Given the description of an element on the screen output the (x, y) to click on. 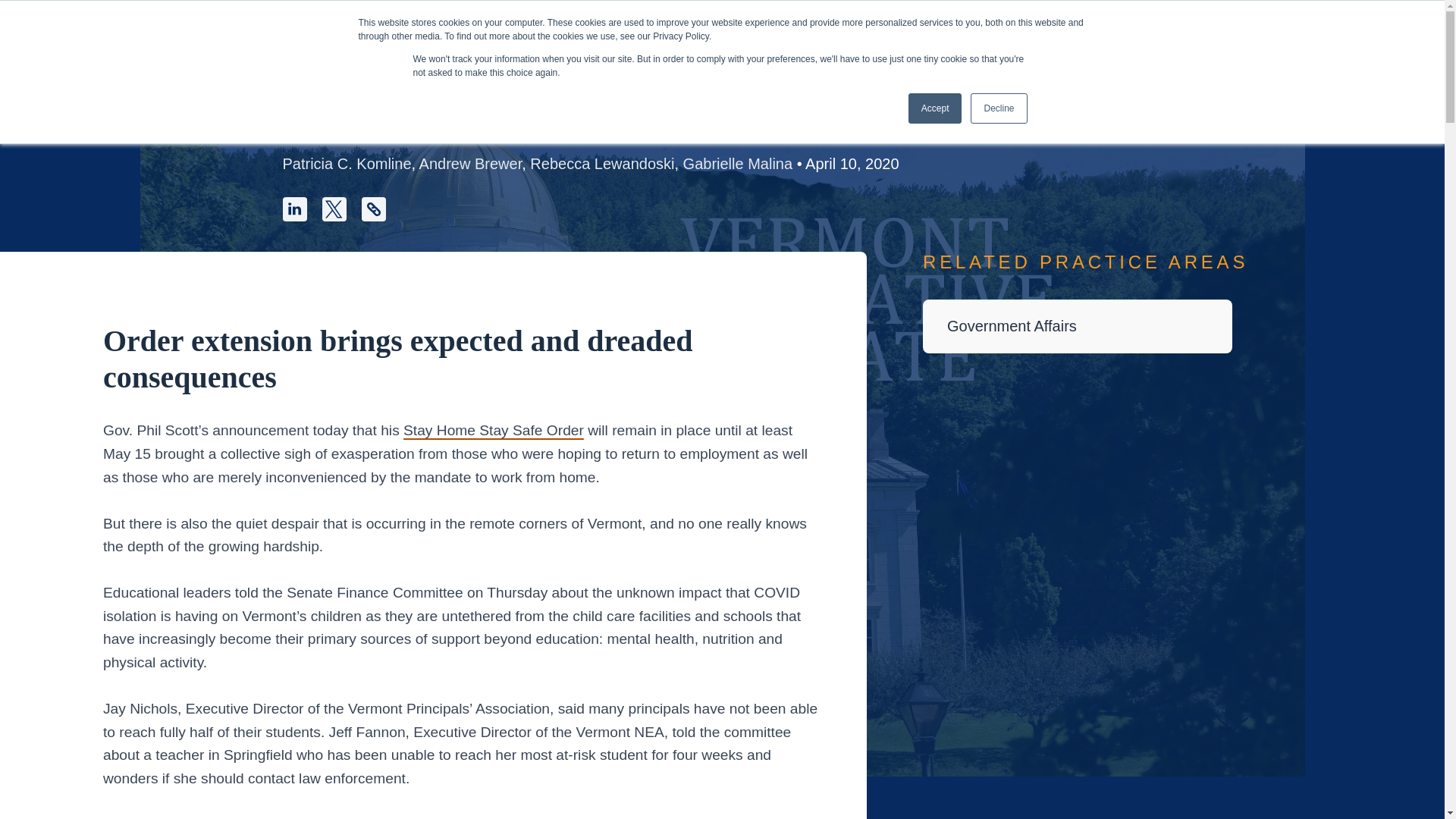
Accept (935, 108)
home (297, 62)
Practices (536, 63)
Resources (941, 63)
Team (745, 63)
Careers (833, 63)
Industries (649, 63)
Decline (998, 108)
